Given the description of an element on the screen output the (x, y) to click on. 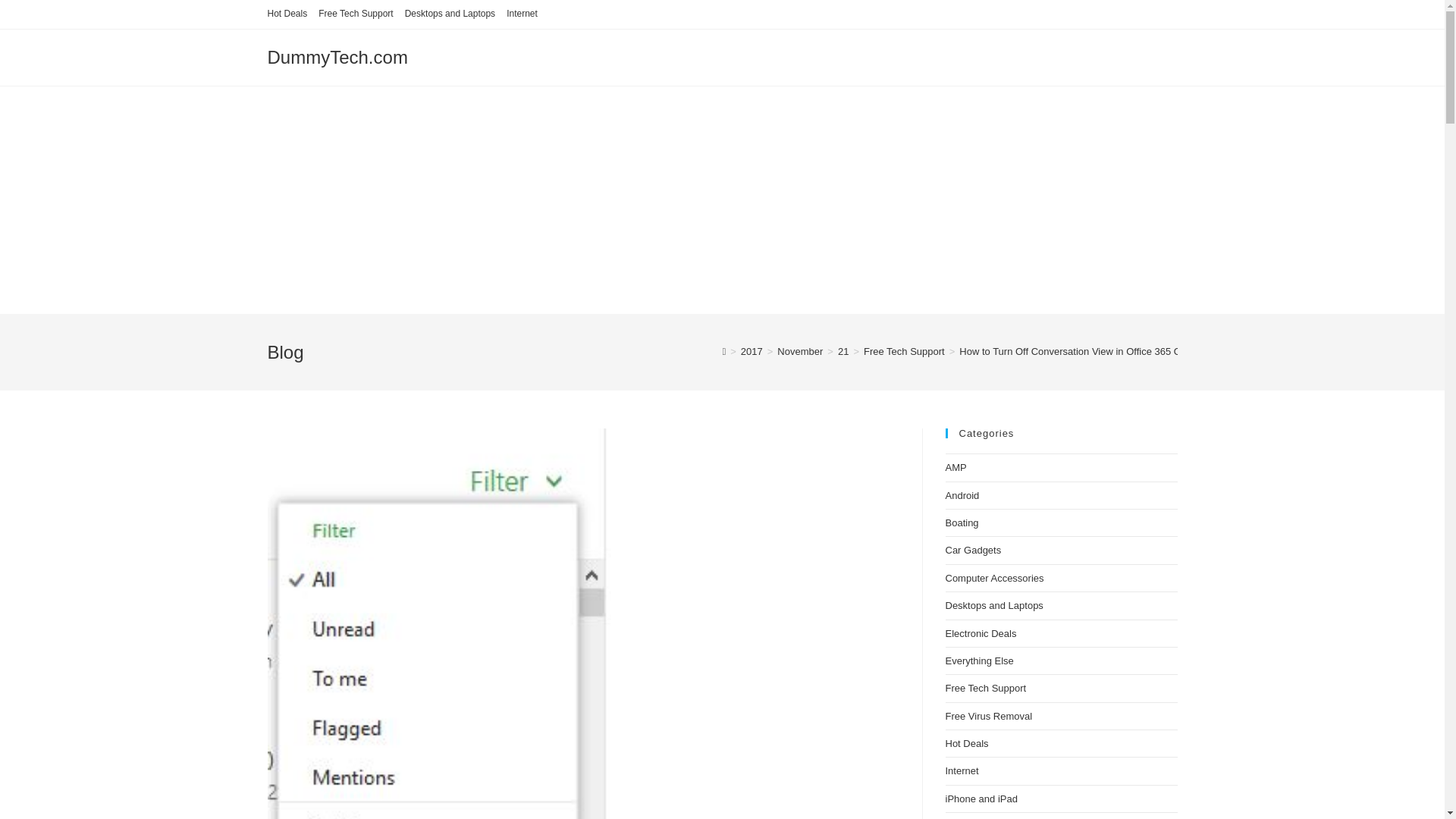
How to Turn Off Conversation View in Office 365 Outlook OWA (1096, 351)
21 (843, 351)
Free Tech Support (903, 351)
Desktops and Laptops (449, 13)
November (799, 351)
DummyTech.com (336, 56)
Hot Deals (286, 13)
Internet (521, 13)
Free Tech Support (355, 13)
